Given the description of an element on the screen output the (x, y) to click on. 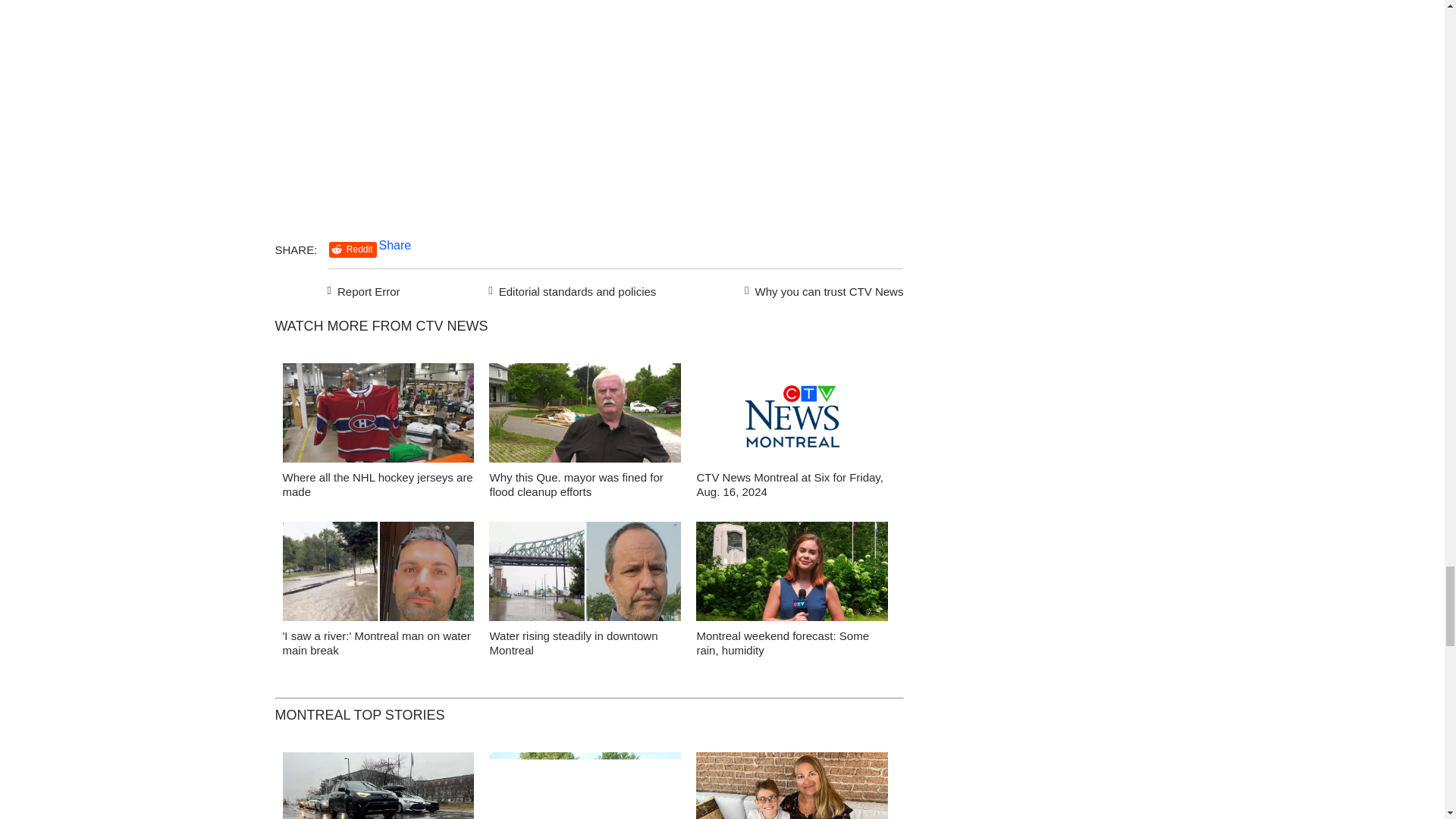
false (378, 570)
CTV News Montreal at Six for Friday, Aug. 16, 2024 (788, 483)
Share (395, 245)
Why this Que. mayor was fined for flood cleanup efforts (575, 483)
Editorial standards and policies (569, 289)
Reddit (353, 249)
false (791, 412)
false (378, 412)
Why you can trust CTV News (820, 289)
Report Error (363, 289)
